Given the description of an element on the screen output the (x, y) to click on. 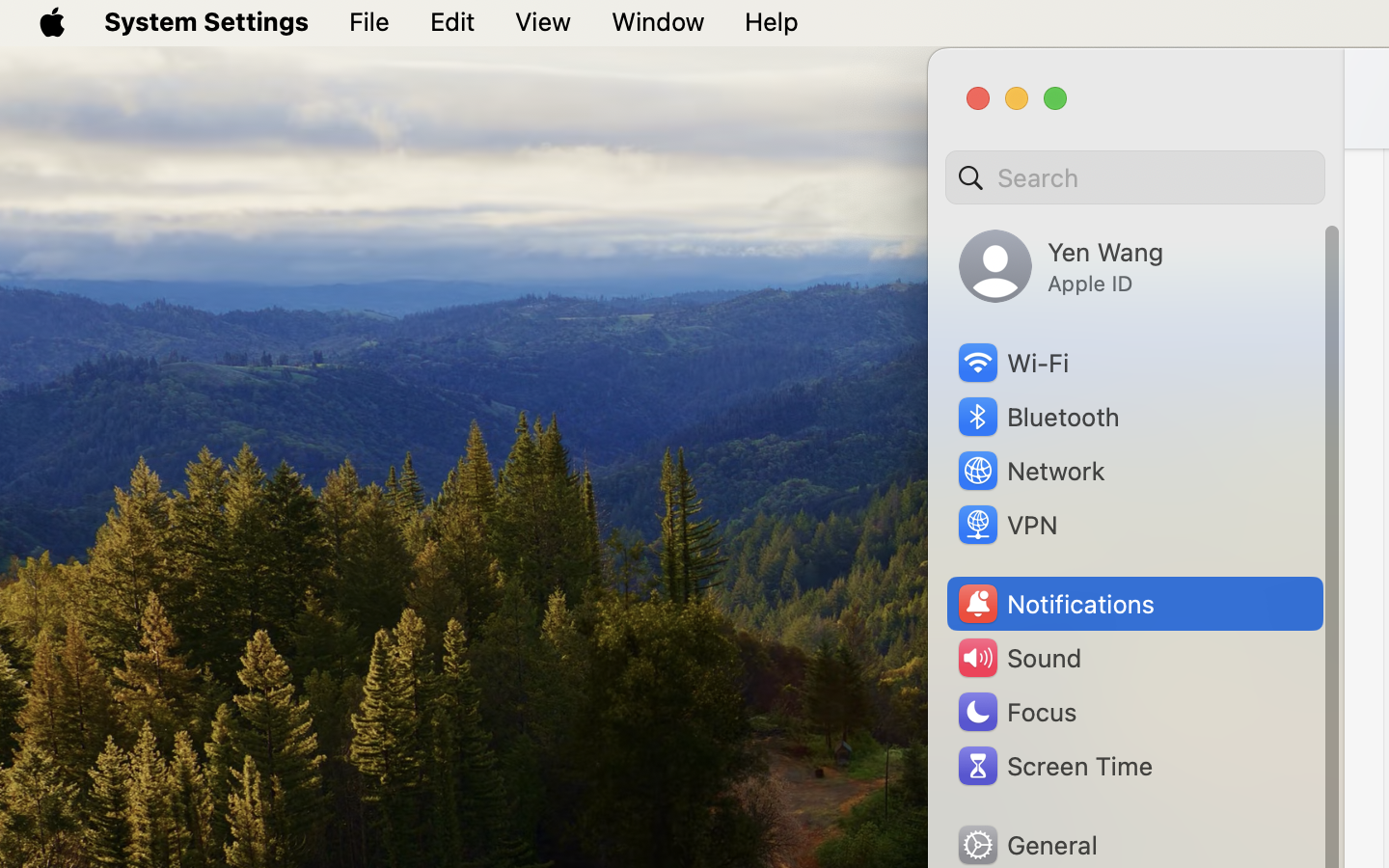
Focus Element type: AXStaticText (1015, 711)
Network Element type: AXStaticText (1029, 470)
Notifications Element type: AXStaticText (1054, 603)
Screen Time Element type: AXStaticText (1053, 765)
General Element type: AXStaticText (1025, 844)
